Given the description of an element on the screen output the (x, y) to click on. 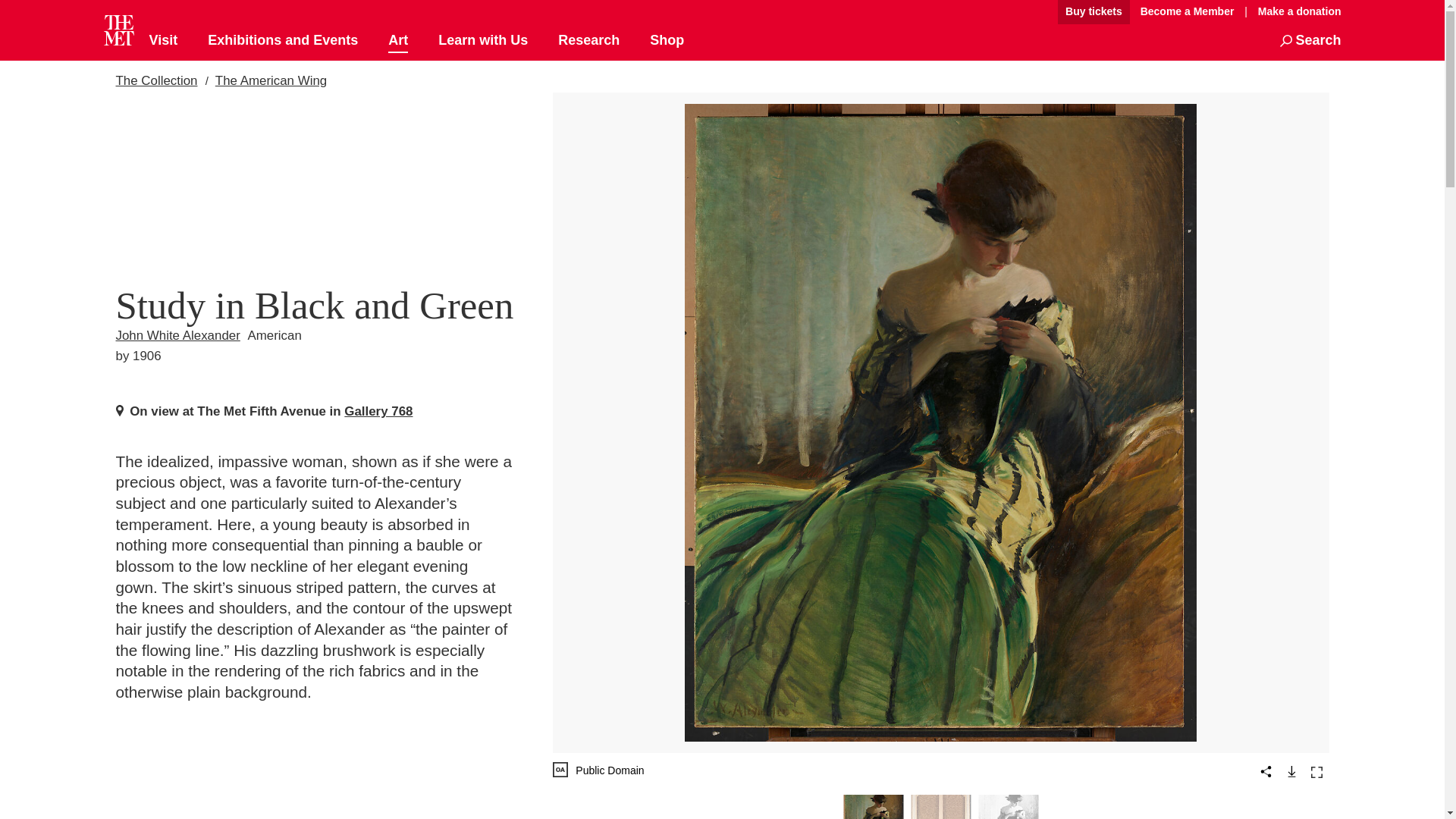
Search (1309, 41)
Jump to content (1005, 12)
Member (1186, 12)
Research (588, 41)
The Collection (155, 80)
Enlarge image (1315, 771)
Search Button (1309, 41)
Shop (666, 41)
Make a donation (1295, 11)
Visit (162, 41)
The American Wing (270, 80)
Download (1291, 770)
Exhibitions and Events (283, 41)
Homepage (118, 30)
tickets (1093, 12)
